Given the description of an element on the screen output the (x, y) to click on. 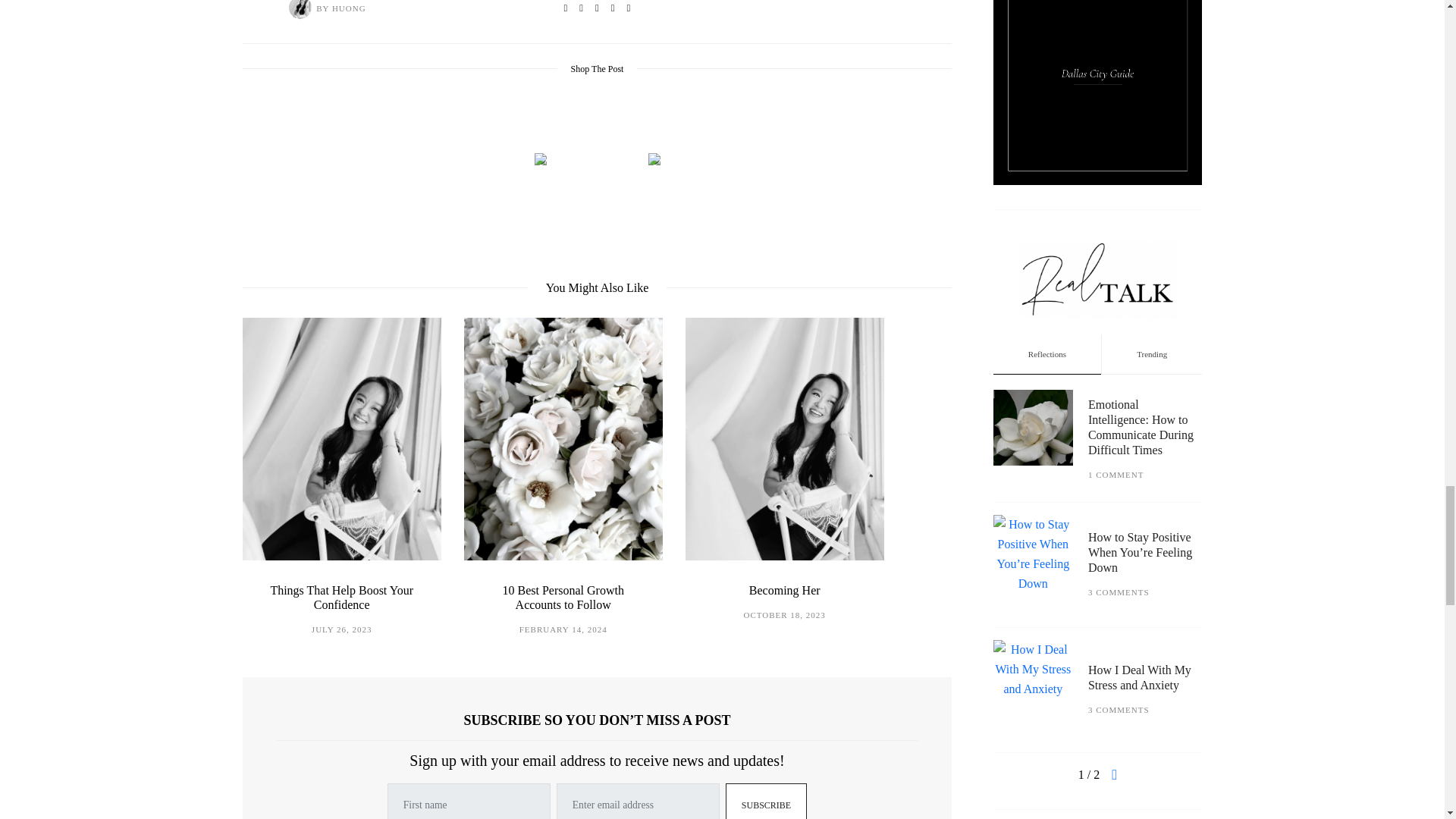
Posts by Huong (348, 8)
Posts by Huong (300, 10)
Subscribe (765, 800)
How I Deal With My Stress and Anxiety (1139, 67)
